Given the description of an element on the screen output the (x, y) to click on. 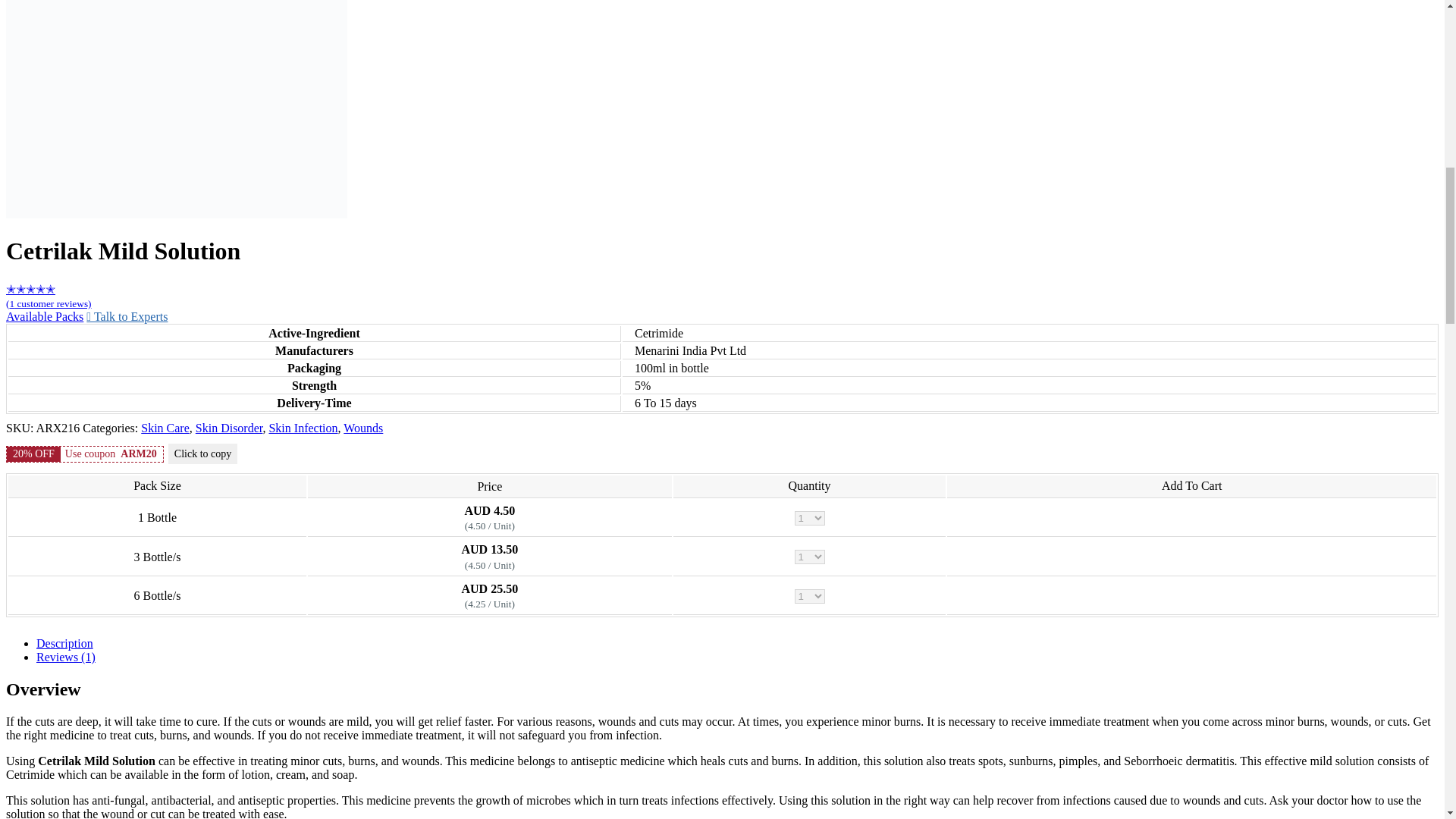
Add to cart (1191, 596)
Description (64, 643)
Add To Cart (1191, 596)
Skin Infection (302, 427)
Add To Cart (1191, 557)
Cetrilak Mild Solution Product Imgage (176, 109)
Skin Care (165, 427)
Skin Disorder (229, 427)
Qty (809, 595)
Available Packs (43, 316)
Qty (809, 518)
Qty (809, 556)
Add to cart (1191, 517)
Wounds (362, 427)
Add to cart (1191, 557)
